Given the description of an element on the screen output the (x, y) to click on. 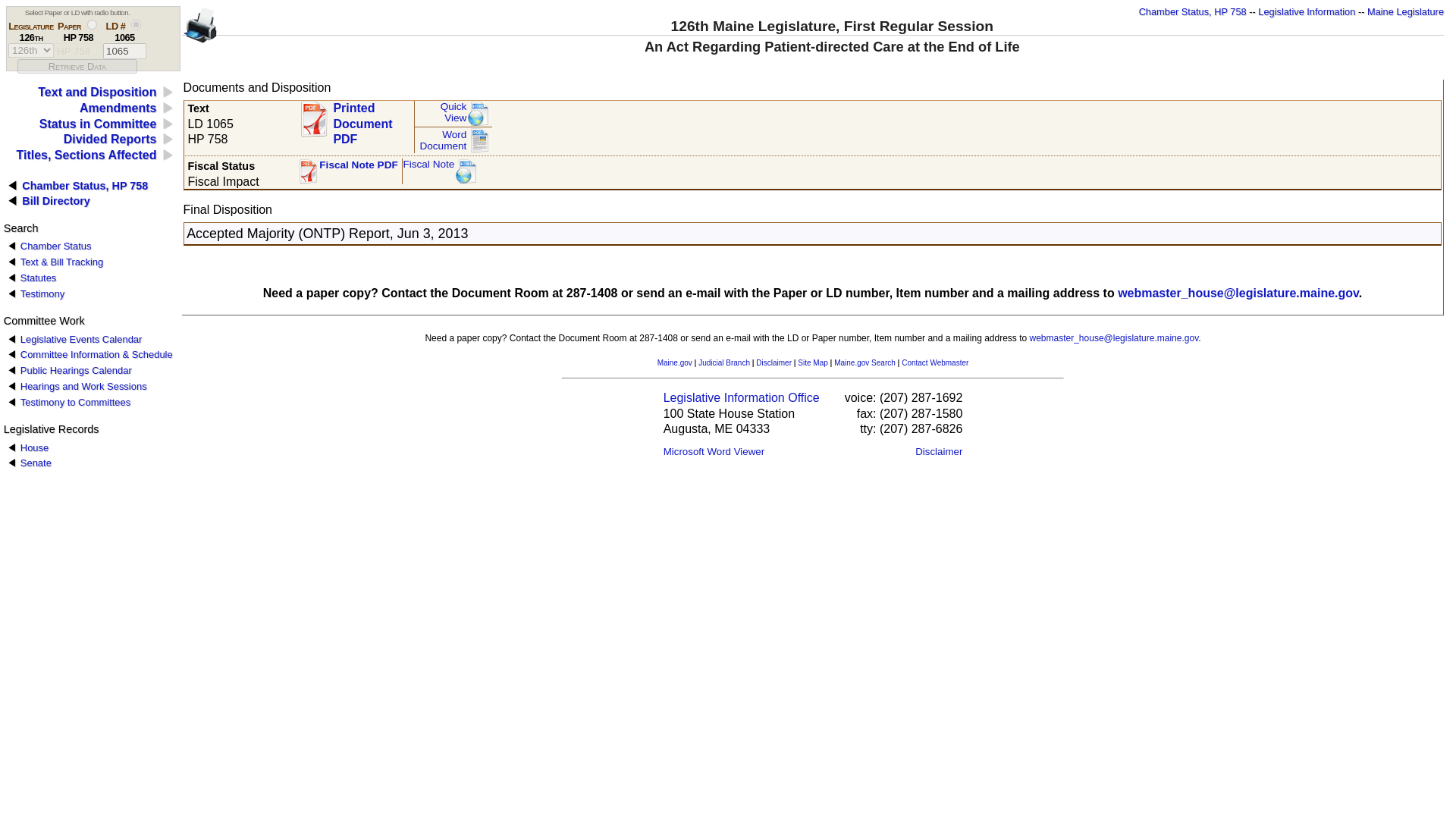
Titles, Sections Affected (85, 154)
Contact Webmaster (934, 362)
Fiscal Note PDF (452, 113)
Chamber Status (347, 171)
Legislative Events Calendar (55, 245)
Legislative Information (81, 338)
1065 (1306, 11)
Chamber Status, HP 758 (125, 50)
Bill Directory (1192, 11)
Printed Document PDF (55, 200)
House (354, 118)
Text and Disposition (34, 447)
Fiscal Note (96, 91)
Retrieve Data (440, 171)
